Given the description of an element on the screen output the (x, y) to click on. 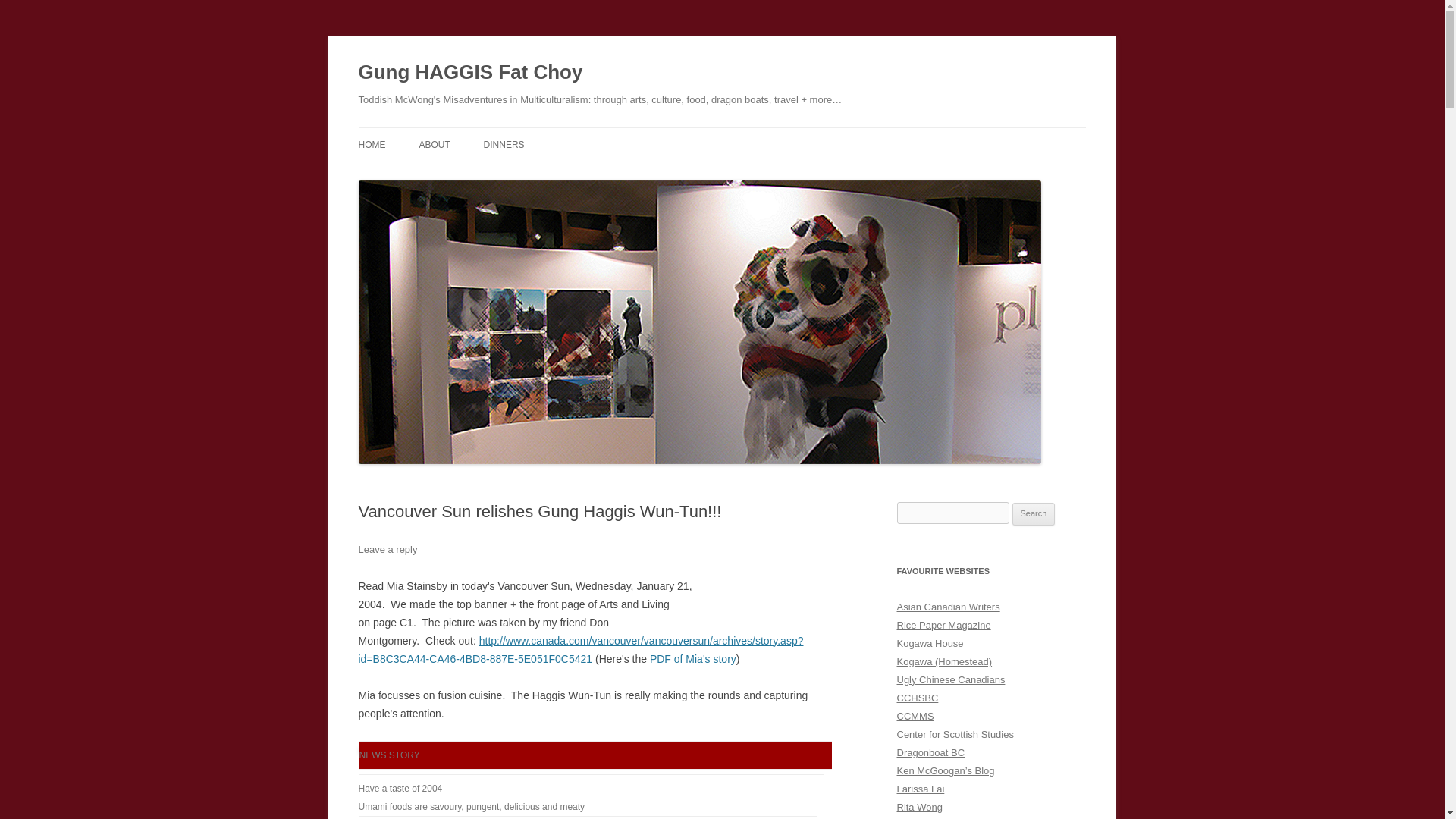
Kogawa House (929, 643)
Center for Scottish Studies (954, 734)
Dragonboat BC (929, 752)
ABOUT (434, 144)
Search (1033, 513)
Asian Canadian Writers (947, 606)
PDF of Mia's story (692, 658)
Rita Wong (919, 807)
Larissa Lai (919, 788)
Gung HAGGIS Fat Choy (470, 72)
